Given the description of an element on the screen output the (x, y) to click on. 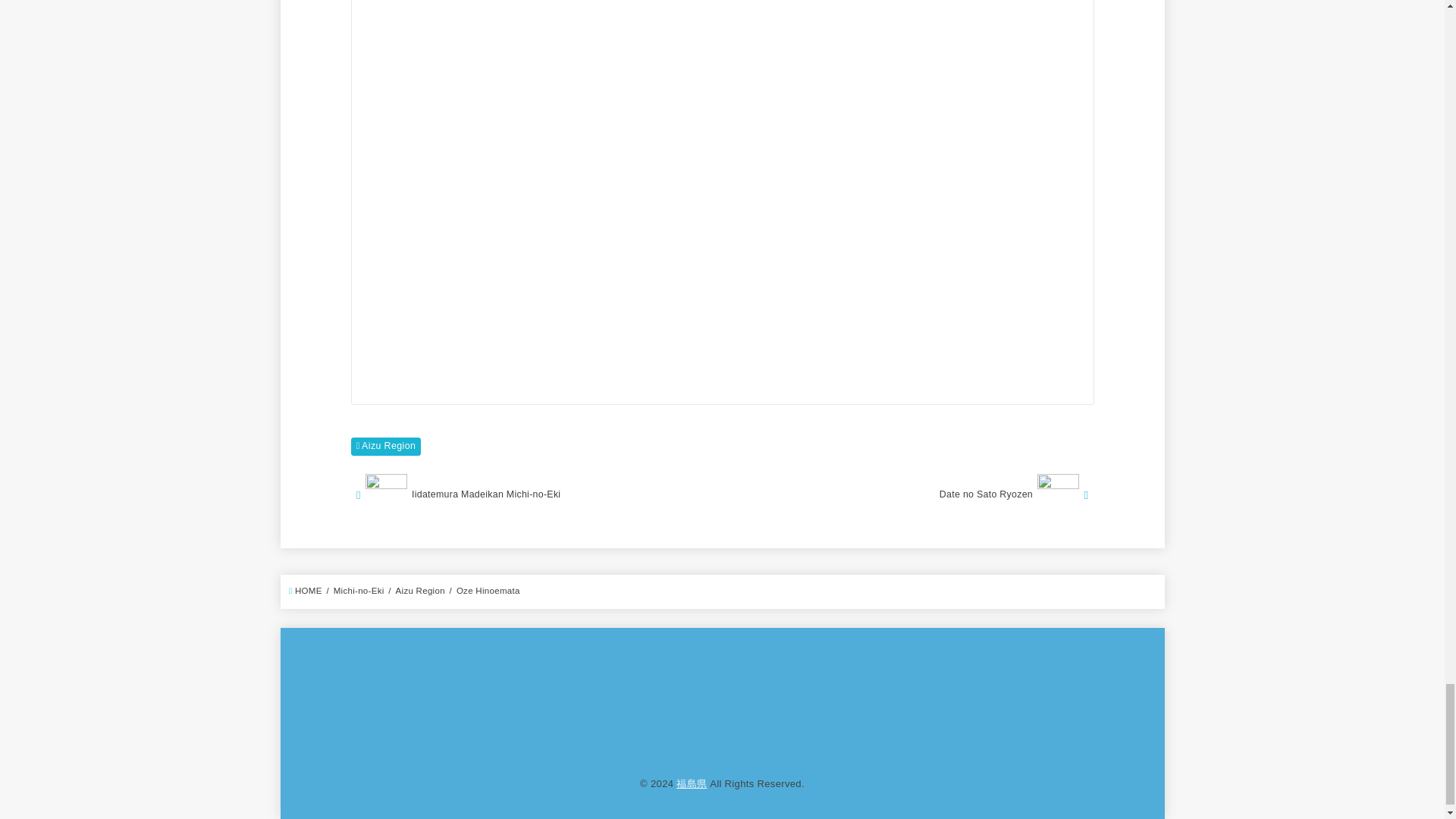
Date no Sato Ryozen (909, 494)
Iidatemura Madeikan Michi-no-Eki (534, 494)
Aizu Region (385, 446)
